Given the description of an element on the screen output the (x, y) to click on. 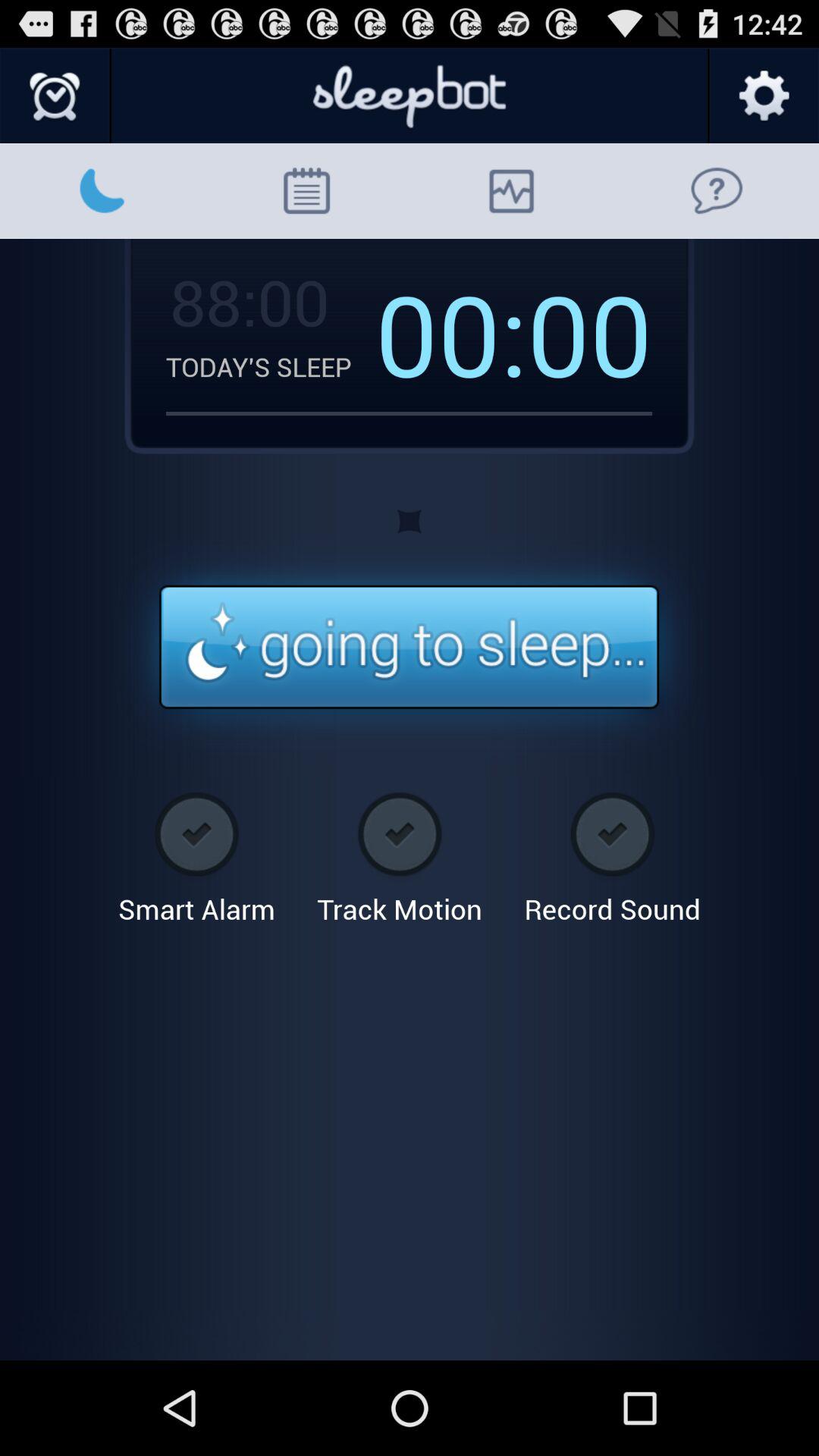
launch app to the right of today's sleep app (451, 332)
